Given the description of an element on the screen output the (x, y) to click on. 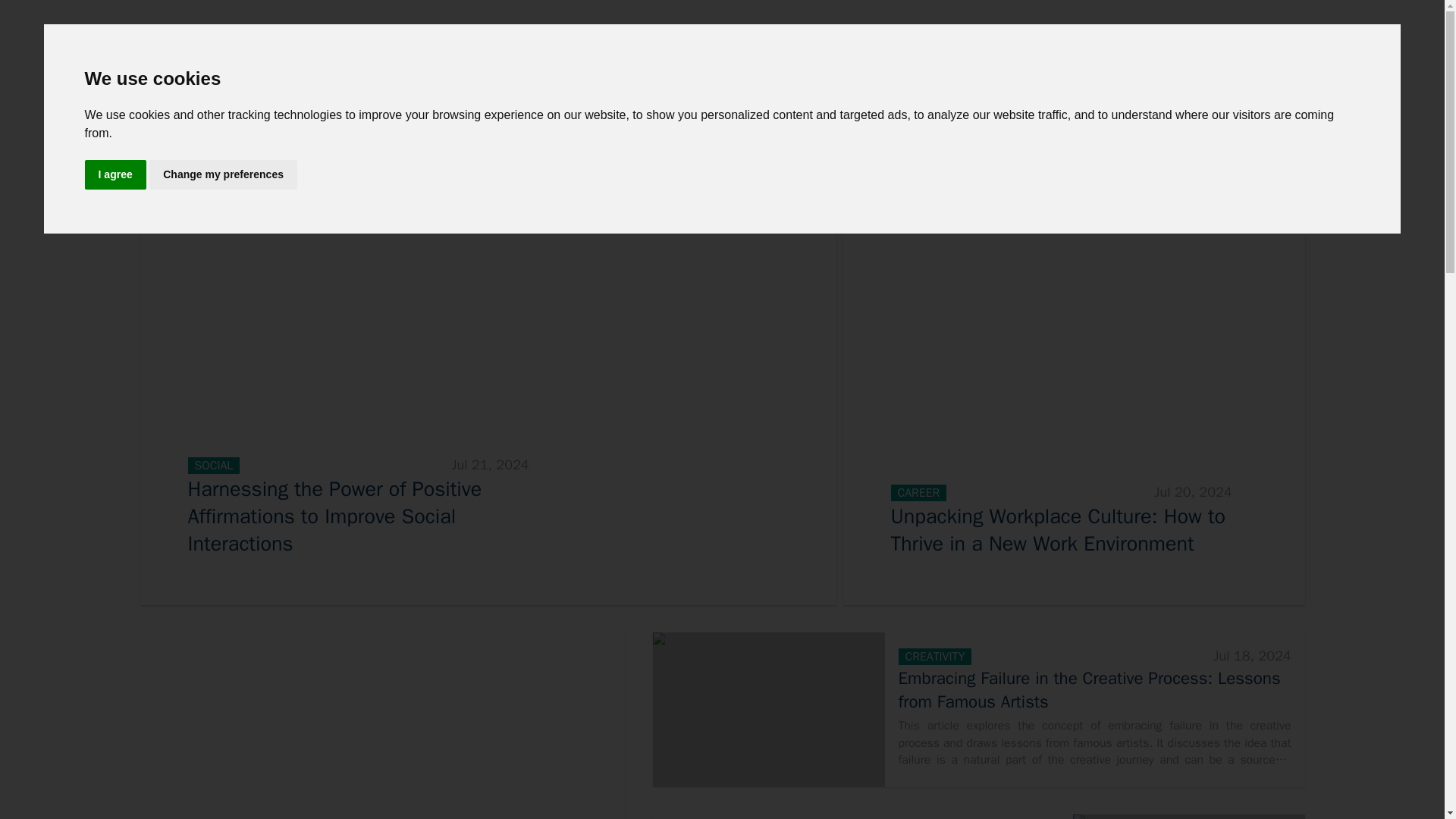
CAREER (273, 122)
CREATIVITY (486, 122)
ABOUT US (1128, 122)
Change my preferences (223, 174)
I agree (115, 174)
FINANCE (406, 122)
SOCIAL (339, 122)
MOTIVATION (193, 122)
